Given the description of an element on the screen output the (x, y) to click on. 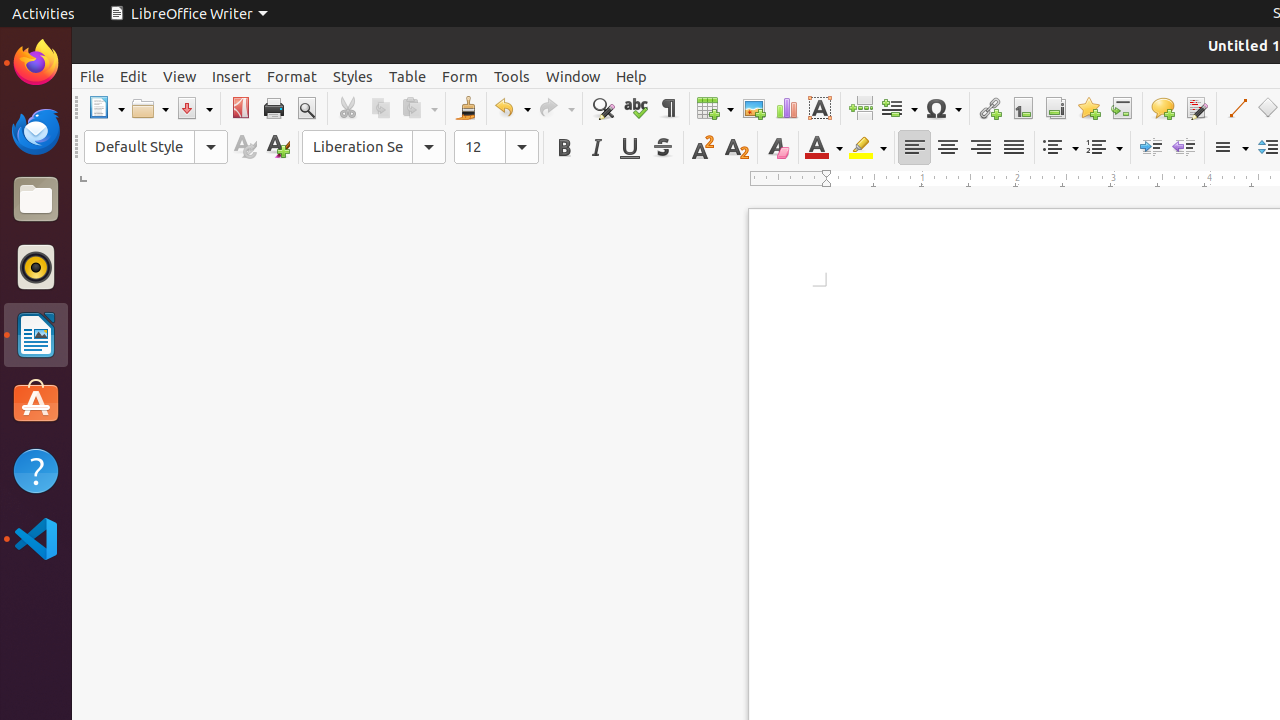
Insert Element type: menu (231, 76)
Track Changes Functions Element type: toggle-button (1195, 108)
Window Element type: menu (573, 76)
Superscript Element type: toggle-button (703, 147)
Tools Element type: menu (512, 76)
